Given the description of an element on the screen output the (x, y) to click on. 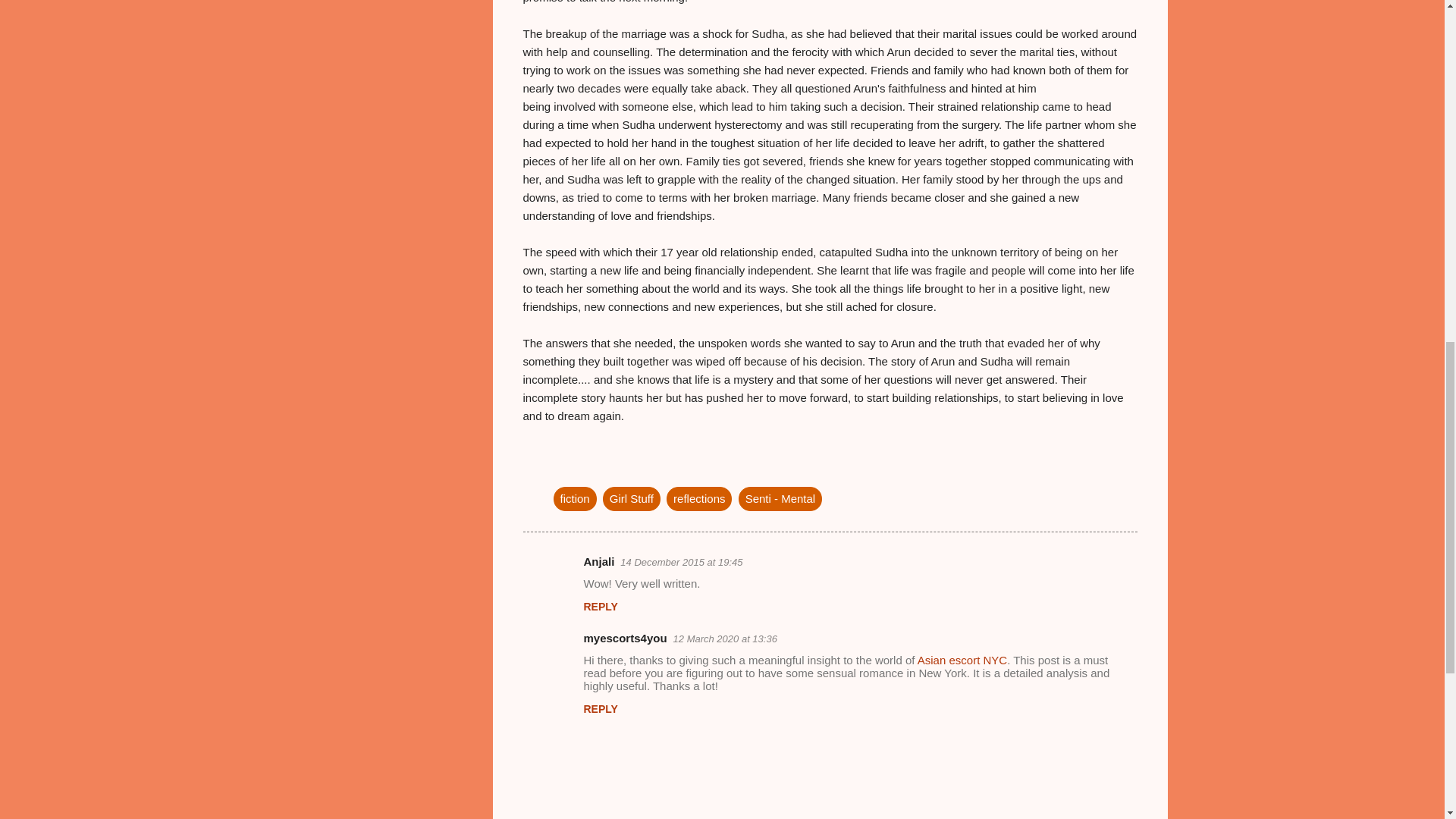
Senti - Mental (780, 498)
Anjali (598, 561)
Asian escort NYC (962, 659)
14 December 2015 at 19:45 (681, 562)
REPLY (600, 708)
REPLY (600, 606)
12 March 2020 at 13:36 (724, 638)
Email Post (562, 467)
myescorts4you (624, 637)
reflections (699, 498)
